Given the description of an element on the screen output the (x, y) to click on. 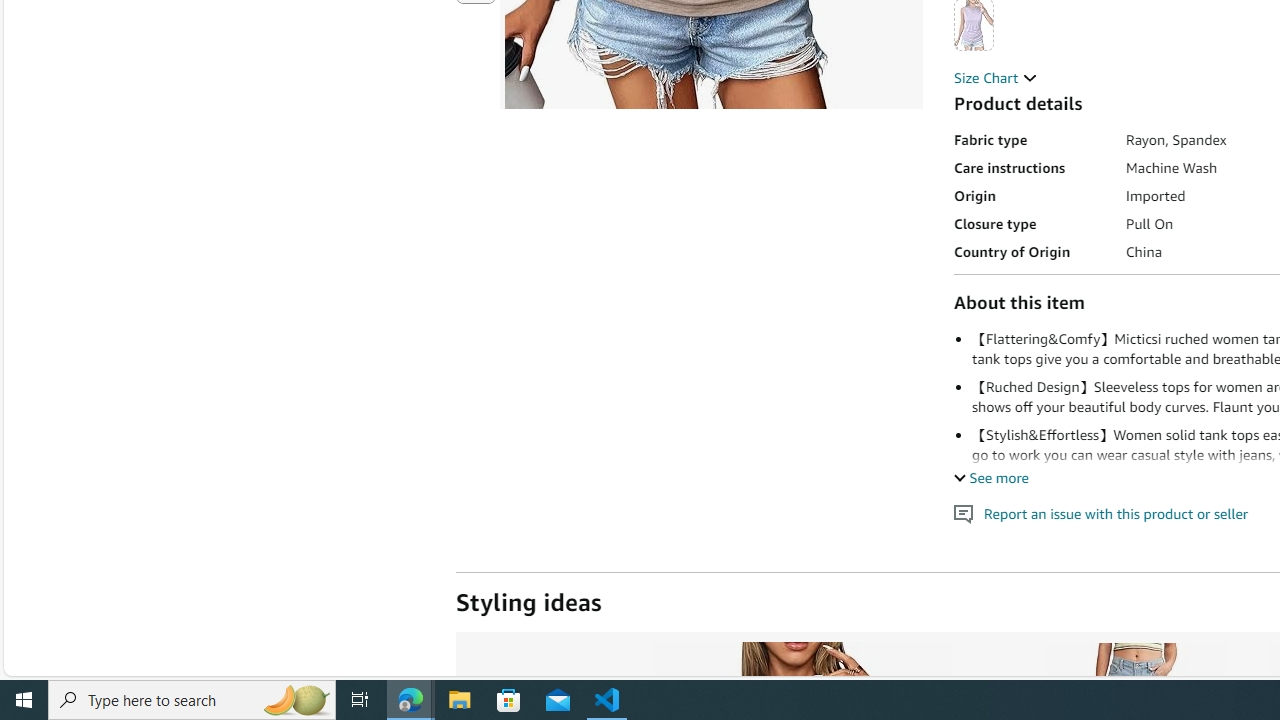
Size Chart  (995, 77)
Light Purple (974, 24)
Light Purple (974, 24)
Report an issue with this product or seller (963, 514)
